Given the description of an element on the screen output the (x, y) to click on. 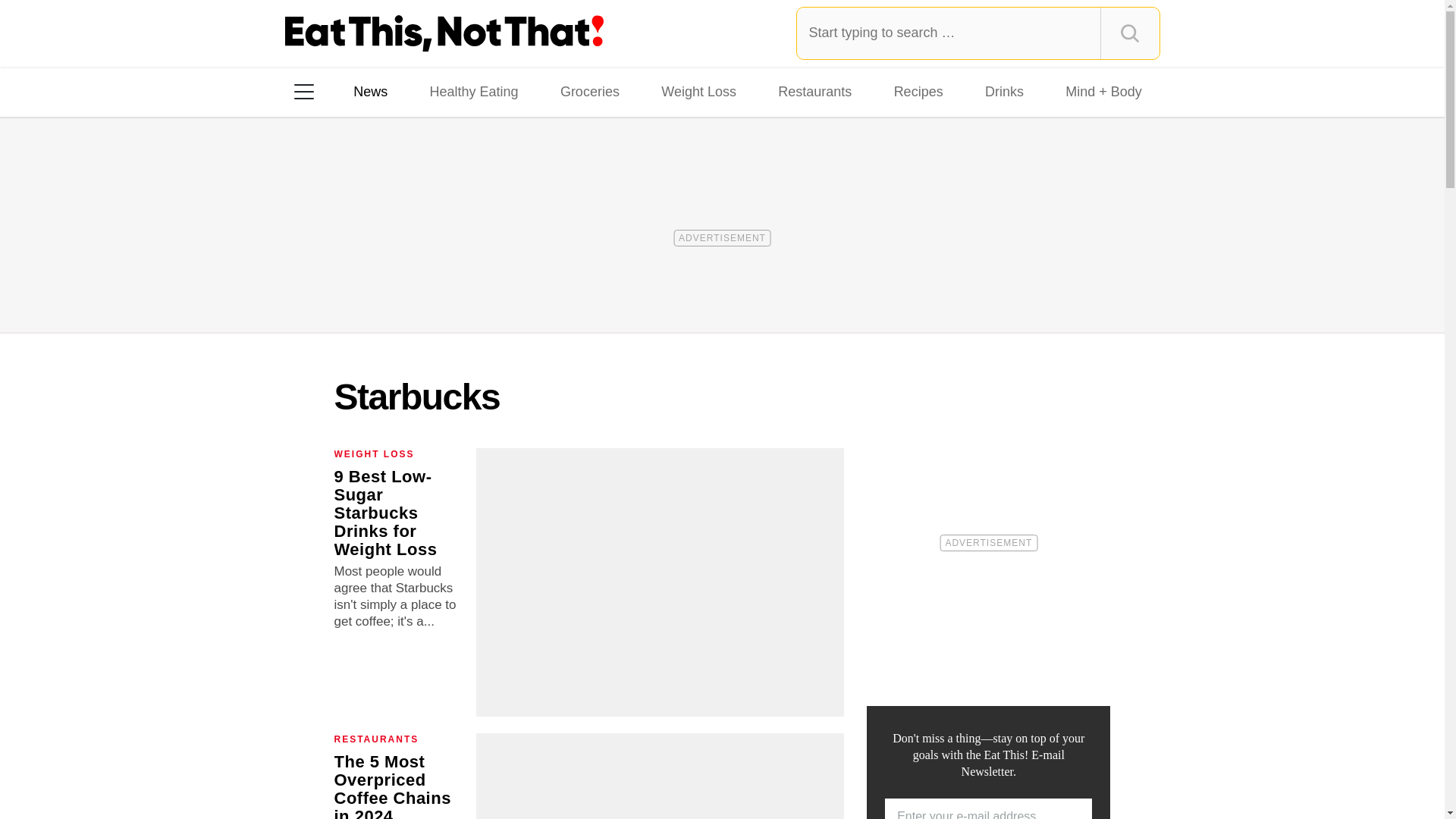
News (370, 91)
Facebook (314, 287)
Restaurants (814, 91)
Facebook (314, 287)
Weight Loss (698, 91)
Groceries (590, 91)
Eat This Not That Homepage (444, 33)
9 Best Low-Sugar Starbucks Drinks for Weight Loss (384, 512)
Pinterest (443, 287)
Drinks (1003, 91)
